Given the description of an element on the screen output the (x, y) to click on. 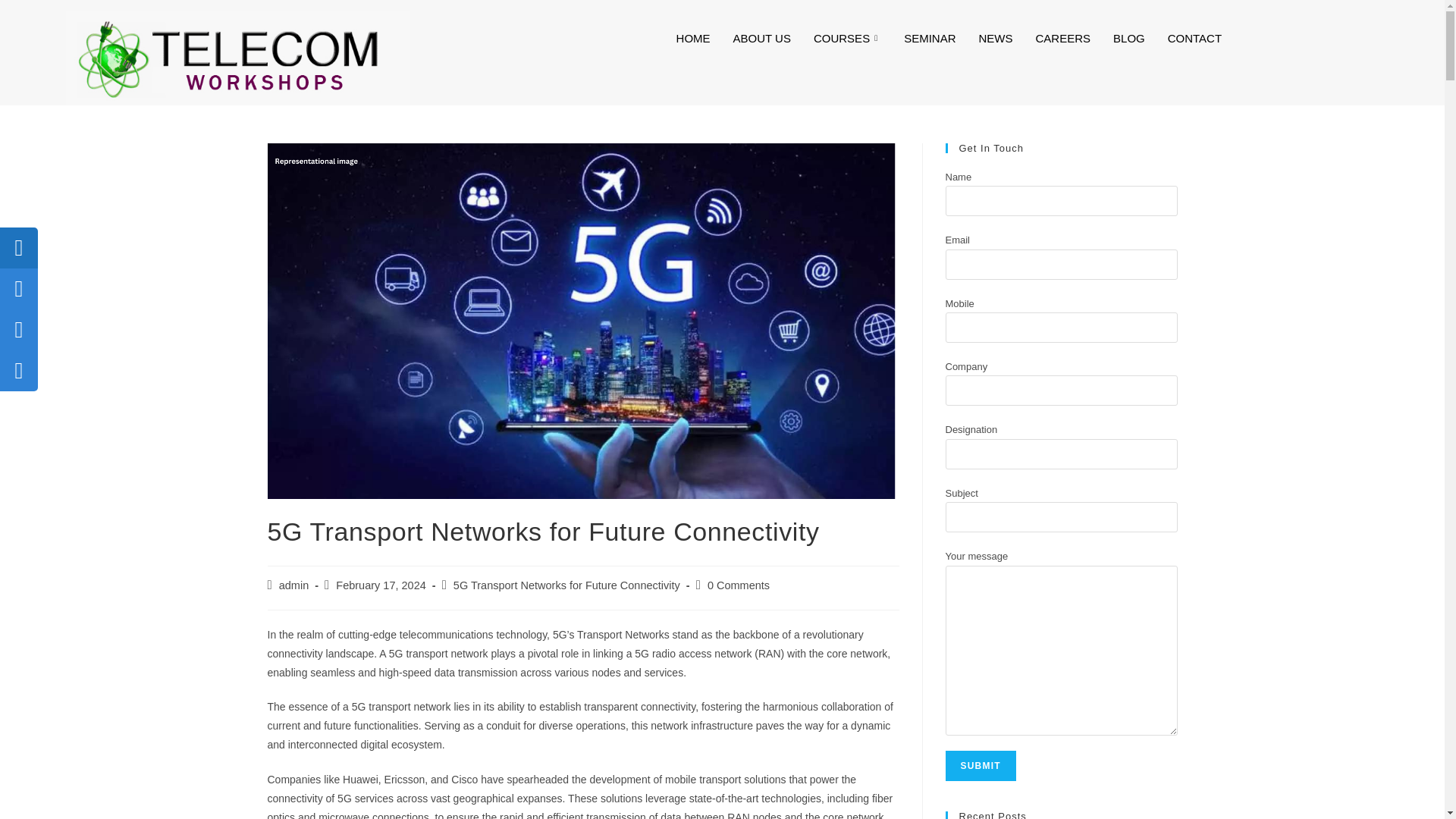
HOME (693, 37)
COURSES (847, 37)
ABOUT US (762, 37)
Submit (979, 766)
Posts by admin (293, 585)
